Given the description of an element on the screen output the (x, y) to click on. 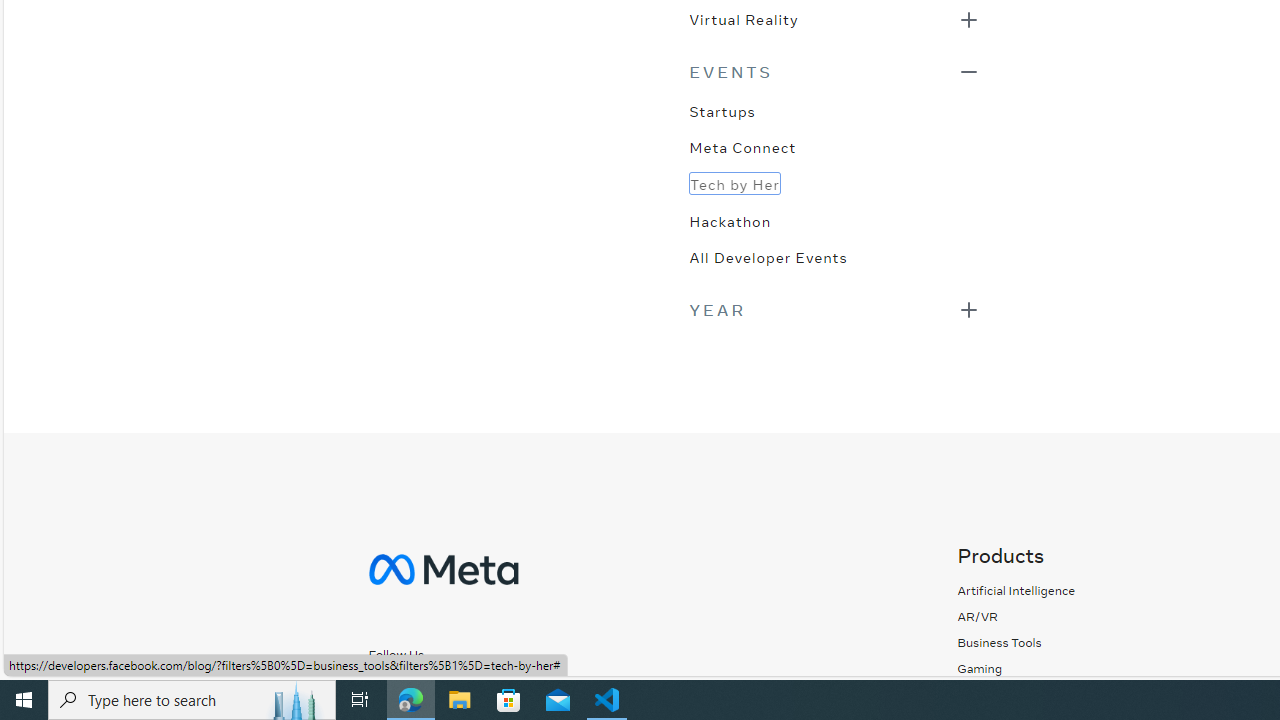
Gaming (980, 668)
Class: _8_jq (466, 690)
AR/VR (977, 616)
Class: _8xd- _9ao6 _8zgc (466, 691)
Virtual Reality (743, 17)
